Given the description of an element on the screen output the (x, y) to click on. 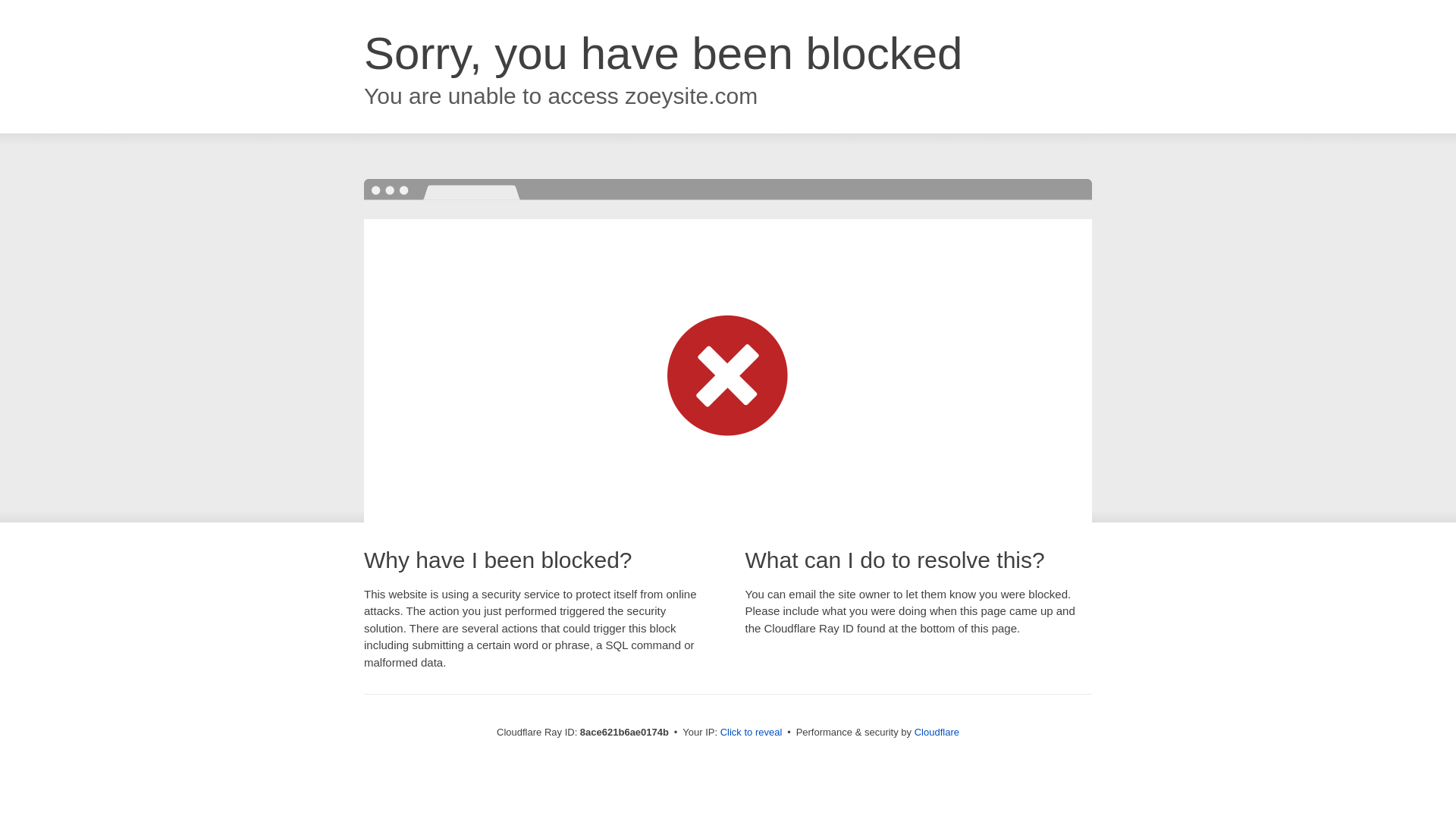
Cloudflare (936, 731)
Click to reveal (751, 732)
